Given the description of an element on the screen output the (x, y) to click on. 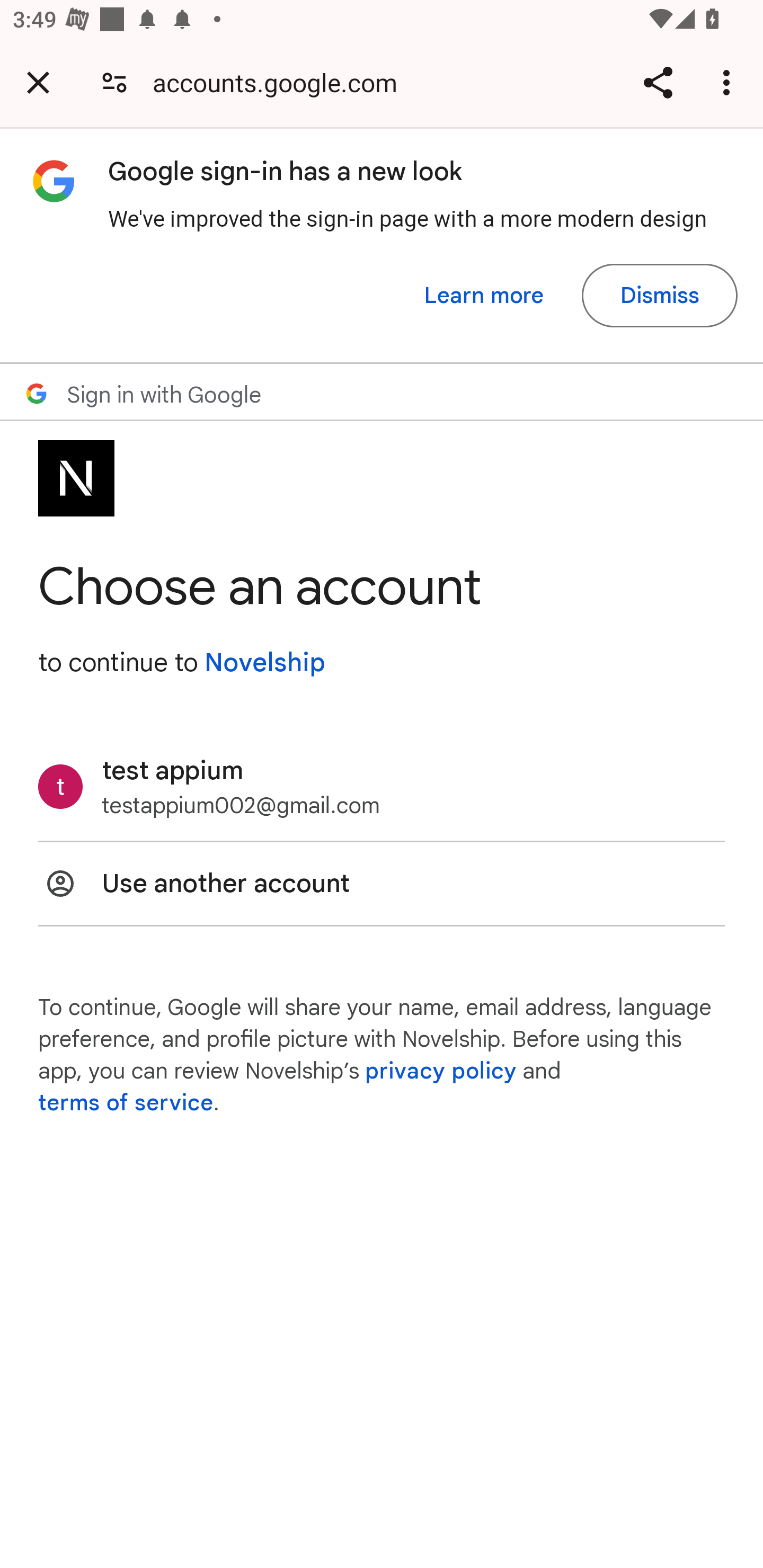
Close tab (38, 82)
Share (657, 82)
Customize and control Google Chrome (729, 82)
Connection is secure (114, 81)
accounts.google.com (281, 81)
Learn more (483, 295)
Dismiss (659, 295)
Novelship (264, 662)
Use another account (381, 883)
privacy policy (440, 1070)
terms of service (126, 1102)
